Given the description of an element on the screen output the (x, y) to click on. 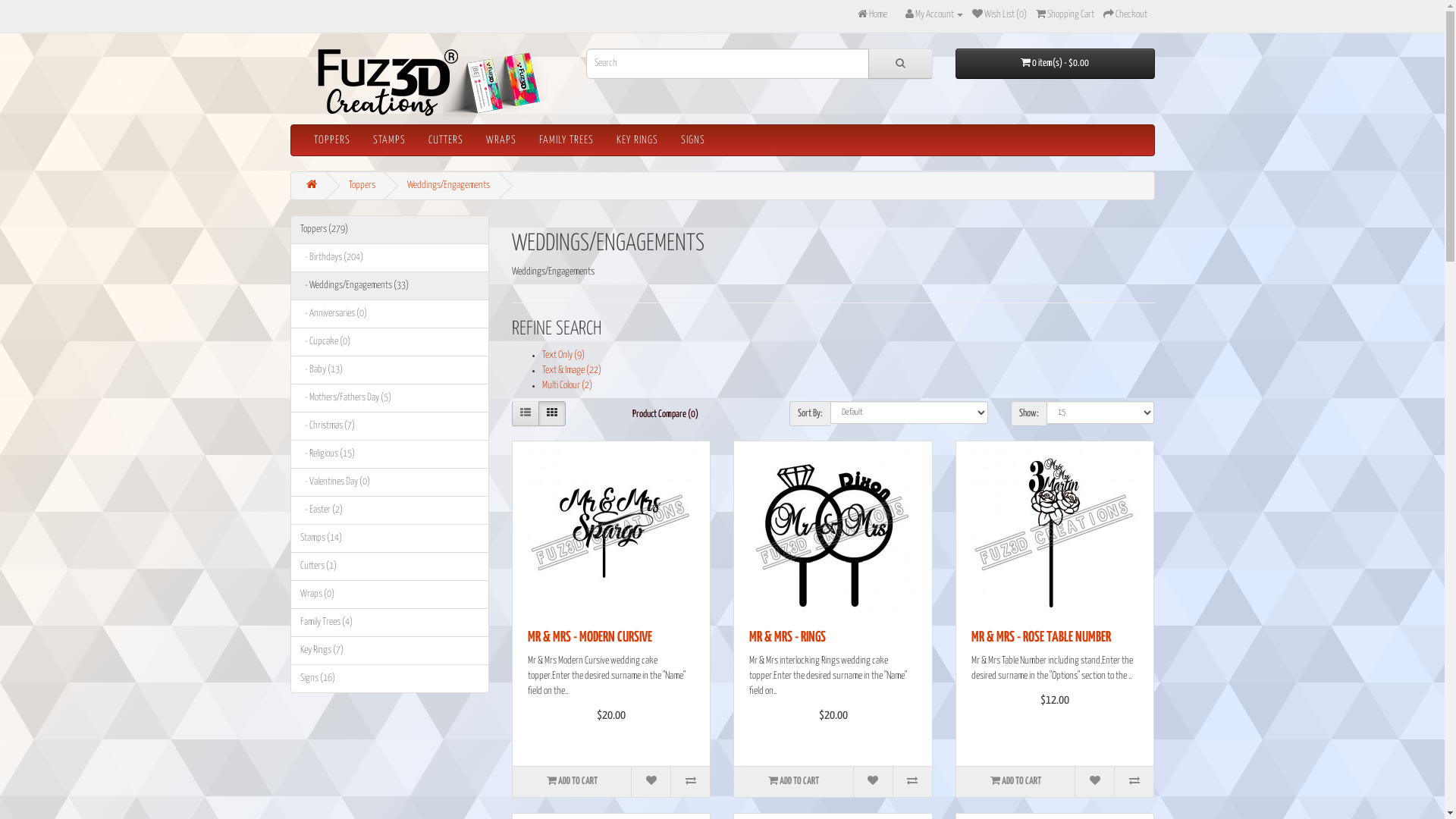
   - Cupcake (0) Element type: text (389, 341)
   - Valentines Day (0) Element type: text (389, 481)
MR & MRS - RINGS Element type: text (787, 637)
Wish List (0) Element type: text (999, 14)
Toppers (279) Element type: text (389, 229)
Fuz3d Creations Element type: hover (418, 82)
ADD TO CART Element type: text (793, 781)
Multi Colour (2) Element type: text (567, 385)
Text & Image (22) Element type: text (571, 370)
Signs (16) Element type: text (389, 678)
Key Rings (7) Element type: text (389, 650)
TOPPERS Element type: text (330, 140)
Weddings/Engagements Element type: text (447, 185)
   - Easter (2) Element type: text (389, 509)
   - Baby (13) Element type: text (389, 369)
   - Weddings/Engagements (33) Element type: text (389, 285)
KEY RINGS Element type: text (637, 140)
Toppers Element type: text (361, 185)
   - Birthdays (204) Element type: text (389, 257)
STAMPS Element type: text (388, 140)
SIGNS Element type: text (691, 140)
Home Element type: text (871, 14)
Text Only (9) Element type: text (563, 355)
Mr & Mrs - Rose Table Number Element type: hover (1054, 534)
   - Anniversaries (0) Element type: text (389, 313)
CUTTERS Element type: text (445, 140)
MR & MRS - ROSE TABLE NUMBER Element type: text (1040, 637)
Family Trees (4) Element type: text (389, 622)
Mr & Mrs - Rings Element type: hover (832, 534)
FAMILY TREES Element type: text (566, 140)
ADD TO CART Element type: text (1015, 781)
Product Compare (0) Element type: text (665, 415)
   - Mothers/Fathers Day (5) Element type: text (389, 397)
WRAPS Element type: text (500, 140)
Stamps (14) Element type: text (389, 538)
Shopping Cart Element type: text (1064, 14)
Wraps (0) Element type: text (389, 594)
ADD TO CART Element type: text (571, 781)
My Account Element type: text (934, 14)
Mr & Mrs - Modern Cursive Element type: hover (610, 534)
Cutters (1) Element type: text (389, 566)
Checkout Element type: text (1124, 14)
0 item(s) - $0.00 Element type: text (1054, 63)
   - Religious (15) Element type: text (389, 453)
MR & MRS - MODERN CURSIVE Element type: text (589, 637)
   - Christmas (7) Element type: text (389, 425)
